Given the description of an element on the screen output the (x, y) to click on. 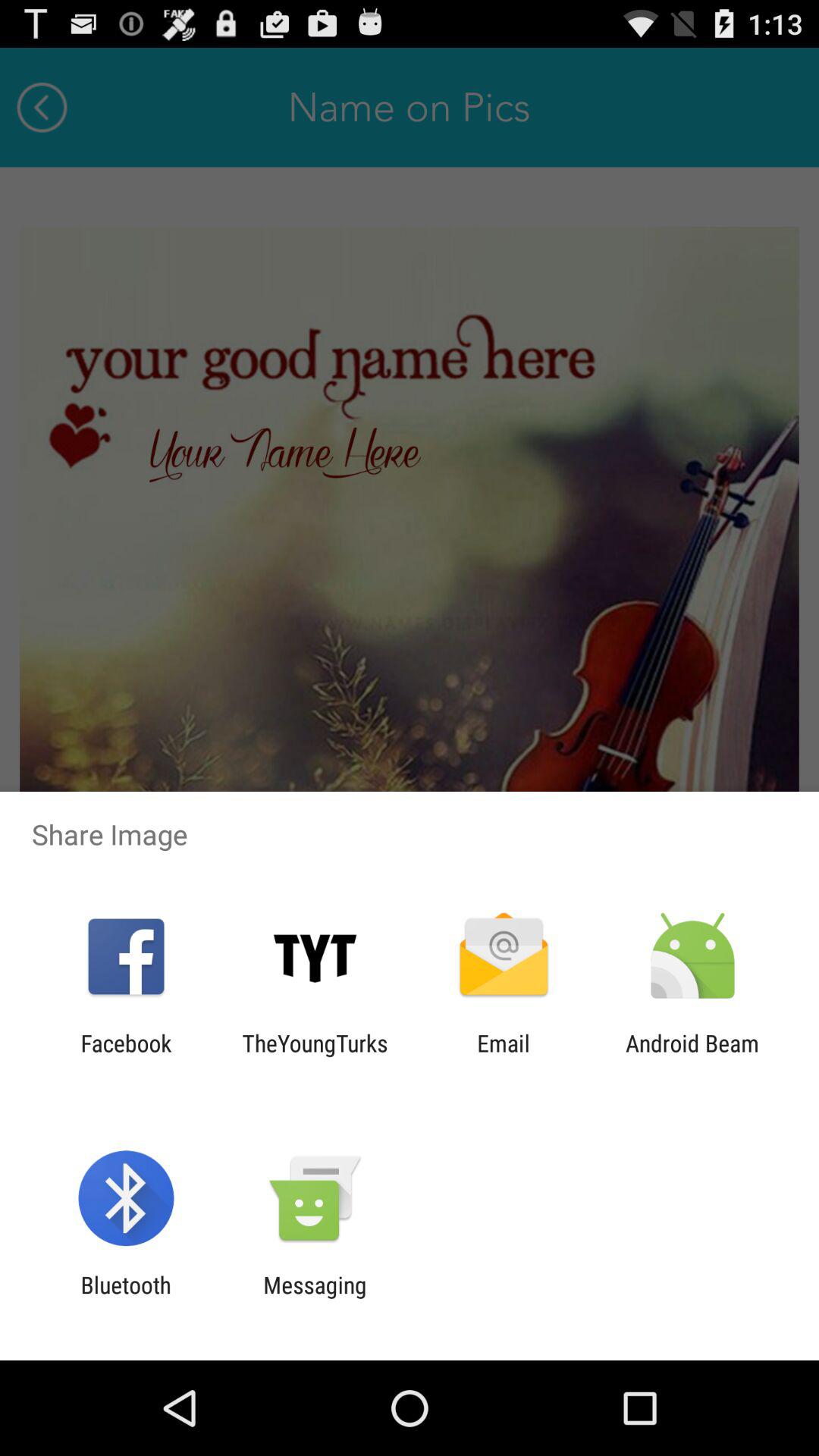
tap the facebook (125, 1056)
